Given the description of an element on the screen output the (x, y) to click on. 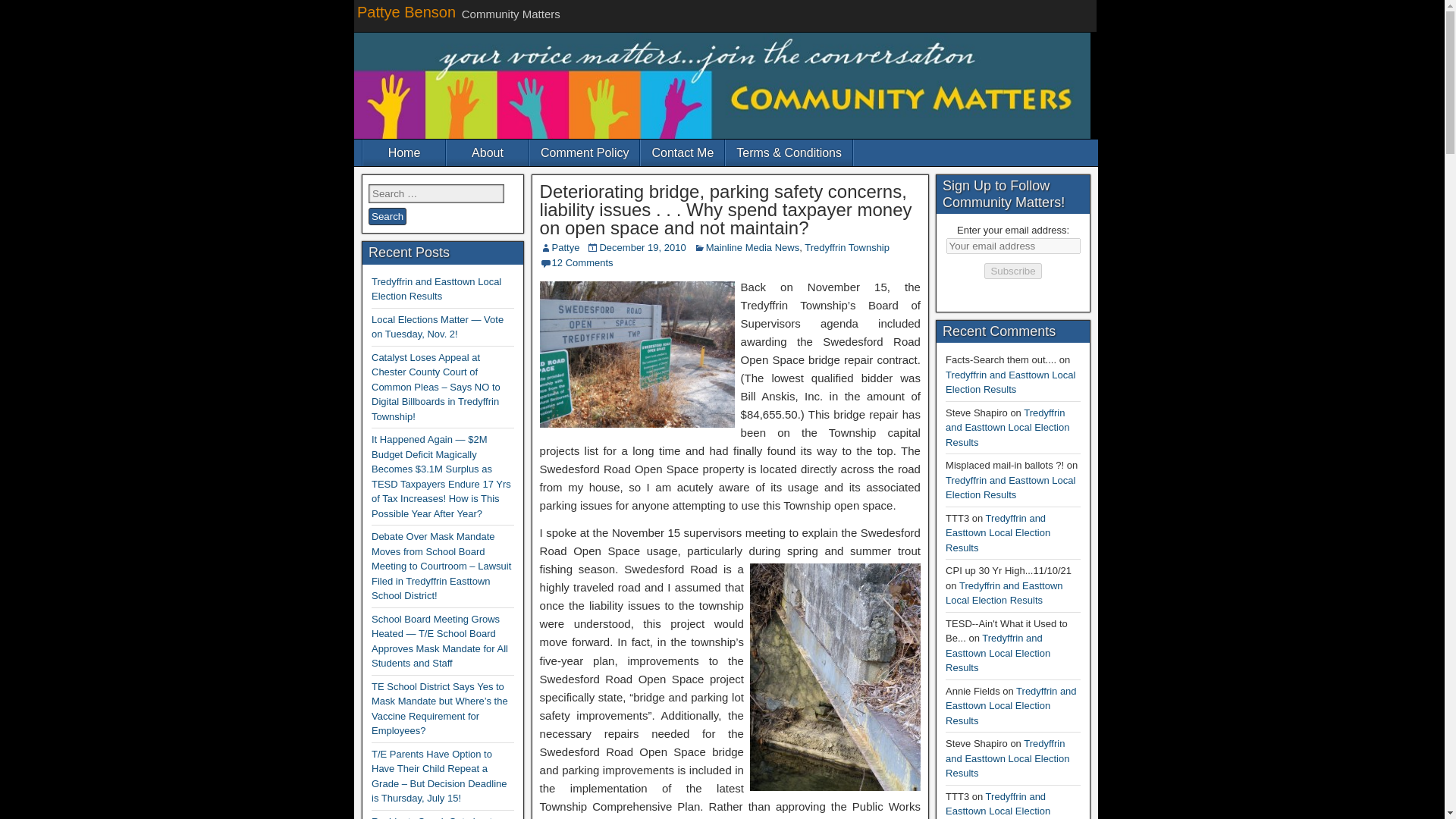
Tredyffrin Township (847, 247)
Search (387, 216)
Swedesford Road parking (637, 354)
Comment Policy (584, 152)
Subscribe (1012, 270)
12 Comments (581, 262)
Home (403, 152)
December 19, 2010 (641, 247)
Pattye Benson (405, 12)
About (487, 152)
Search (387, 216)
Pattye (565, 247)
Mainline Media News (752, 247)
Contact Me (681, 152)
